Given the description of an element on the screen output the (x, y) to click on. 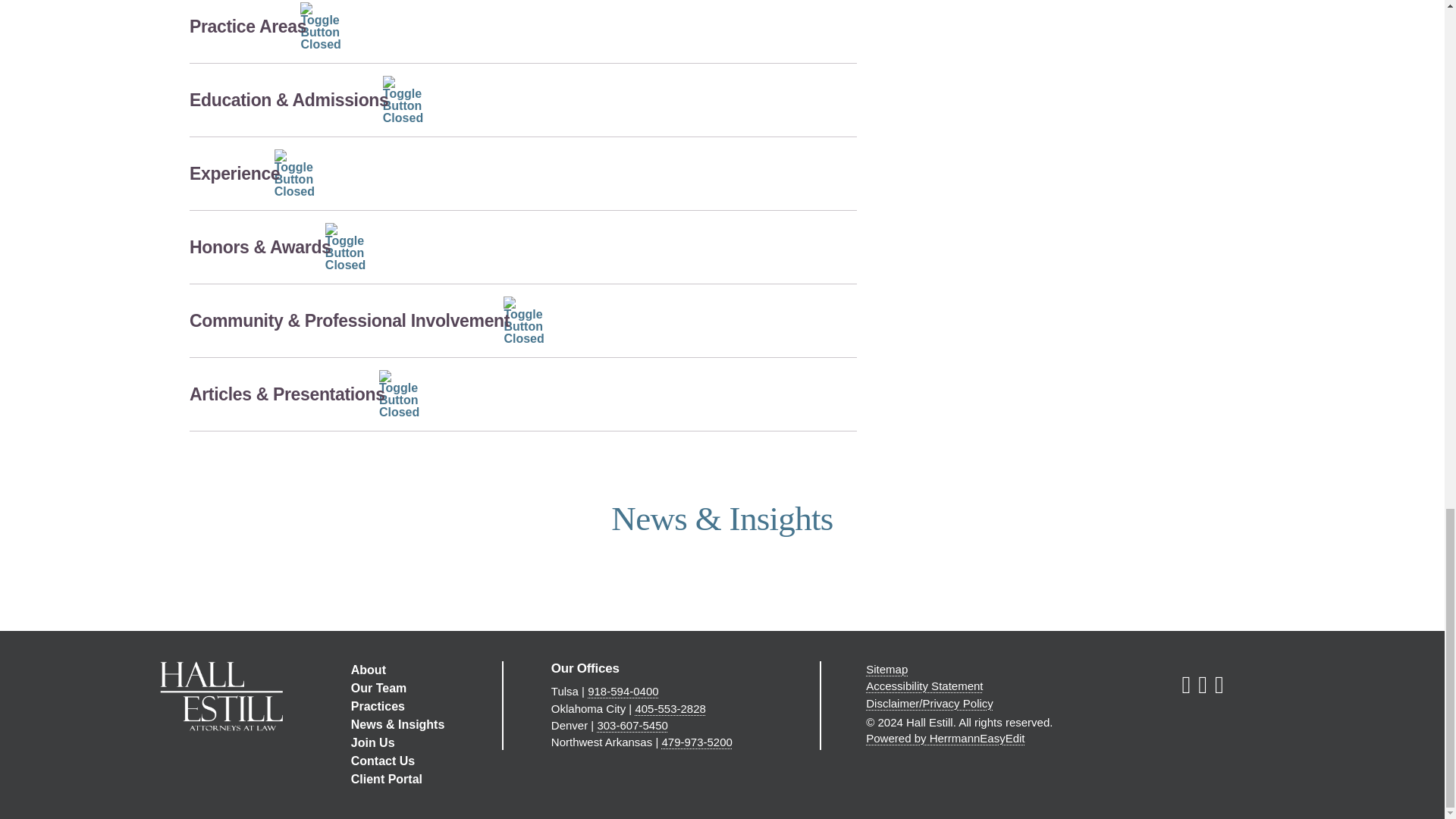
Practice Areas (523, 31)
